Given the description of an element on the screen output the (x, y) to click on. 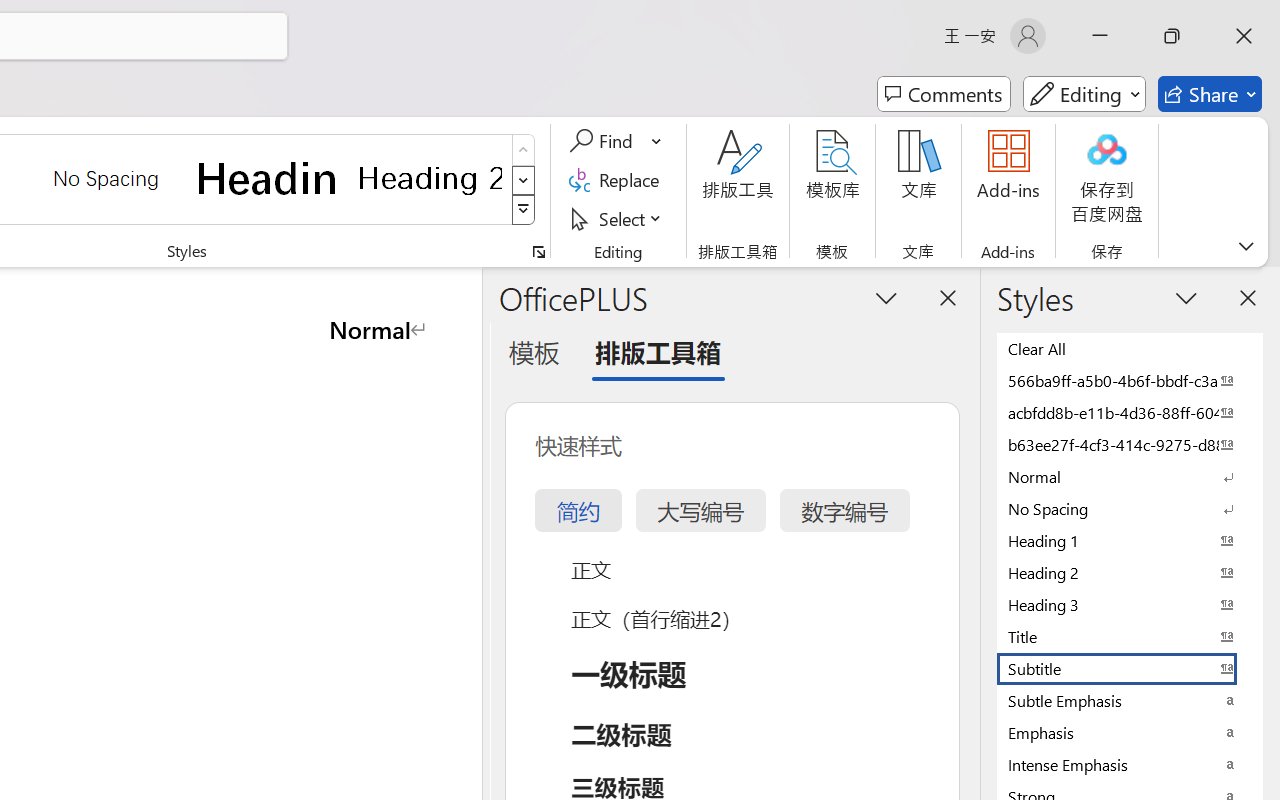
Comments (943, 94)
Class: NetUIImage (523, 210)
Emphasis (1130, 732)
Row up (523, 150)
Clear All (1130, 348)
Subtle Emphasis (1130, 700)
Restore Down (1172, 36)
Ribbon Display Options (1246, 245)
Heading 2 (429, 178)
Minimize (1099, 36)
No Spacing (1130, 508)
